Given the description of an element on the screen output the (x, y) to click on. 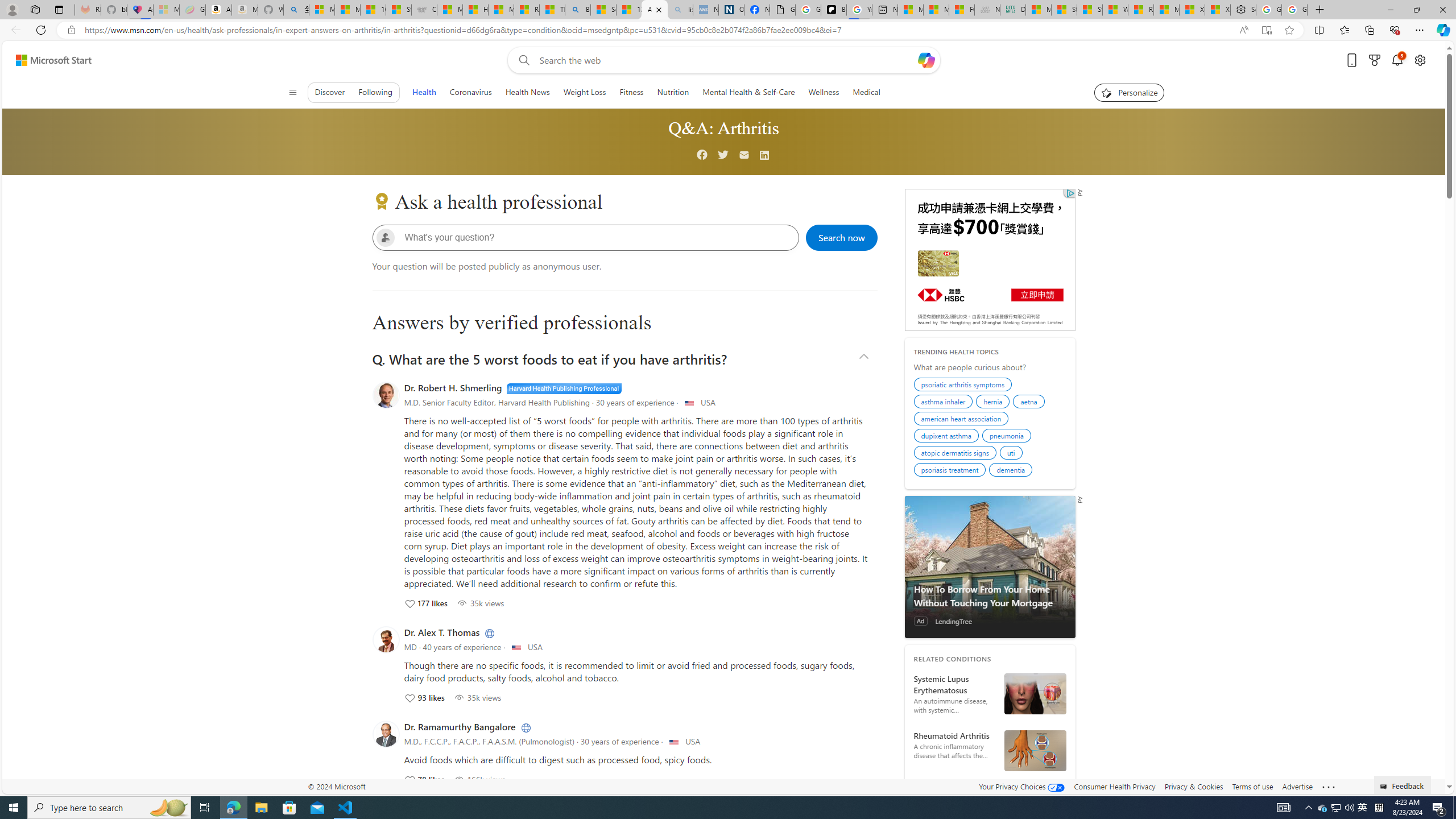
Weight Loss (584, 92)
Health (423, 92)
Google Analytics Opt-out Browser Add-on Download Page (782, 9)
Weight Loss (584, 92)
Class: oneFooter_seeMore-DS-EntryPoint1-1 (1328, 786)
Linkedin (765, 155)
hernia (994, 402)
